Given the description of an element on the screen output the (x, y) to click on. 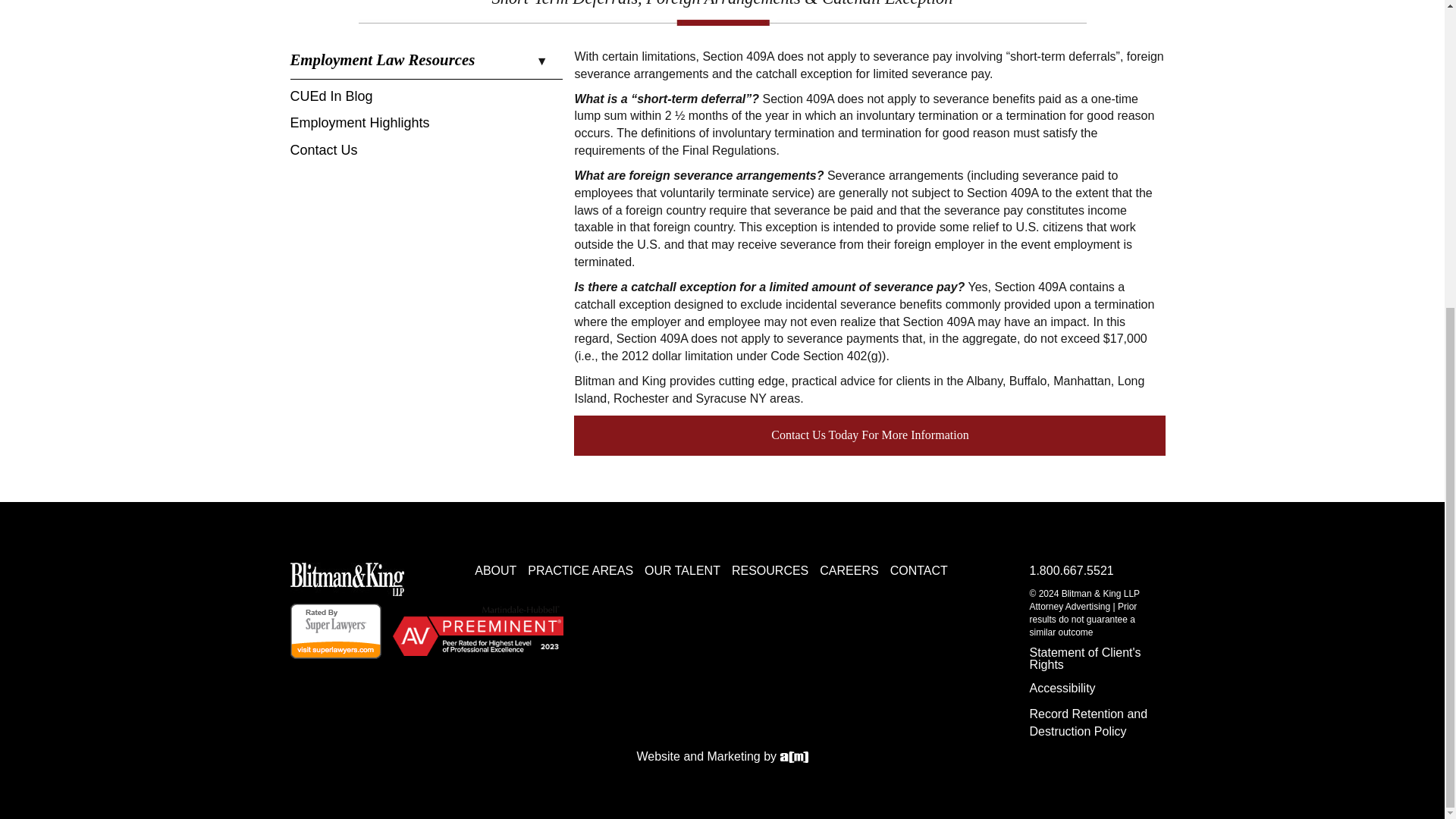
OUR TALENT (682, 570)
CAREERS (848, 570)
PRACTICE AREAS (580, 570)
Record Retention and Destruction Policy (1088, 722)
ABOUT (495, 570)
Accessibility (1091, 688)
Statement of Client's Rights (1091, 658)
RESOURCES (770, 570)
Contact Us (322, 153)
Employment Law Resources (425, 63)
